Given the description of an element on the screen output the (x, y) to click on. 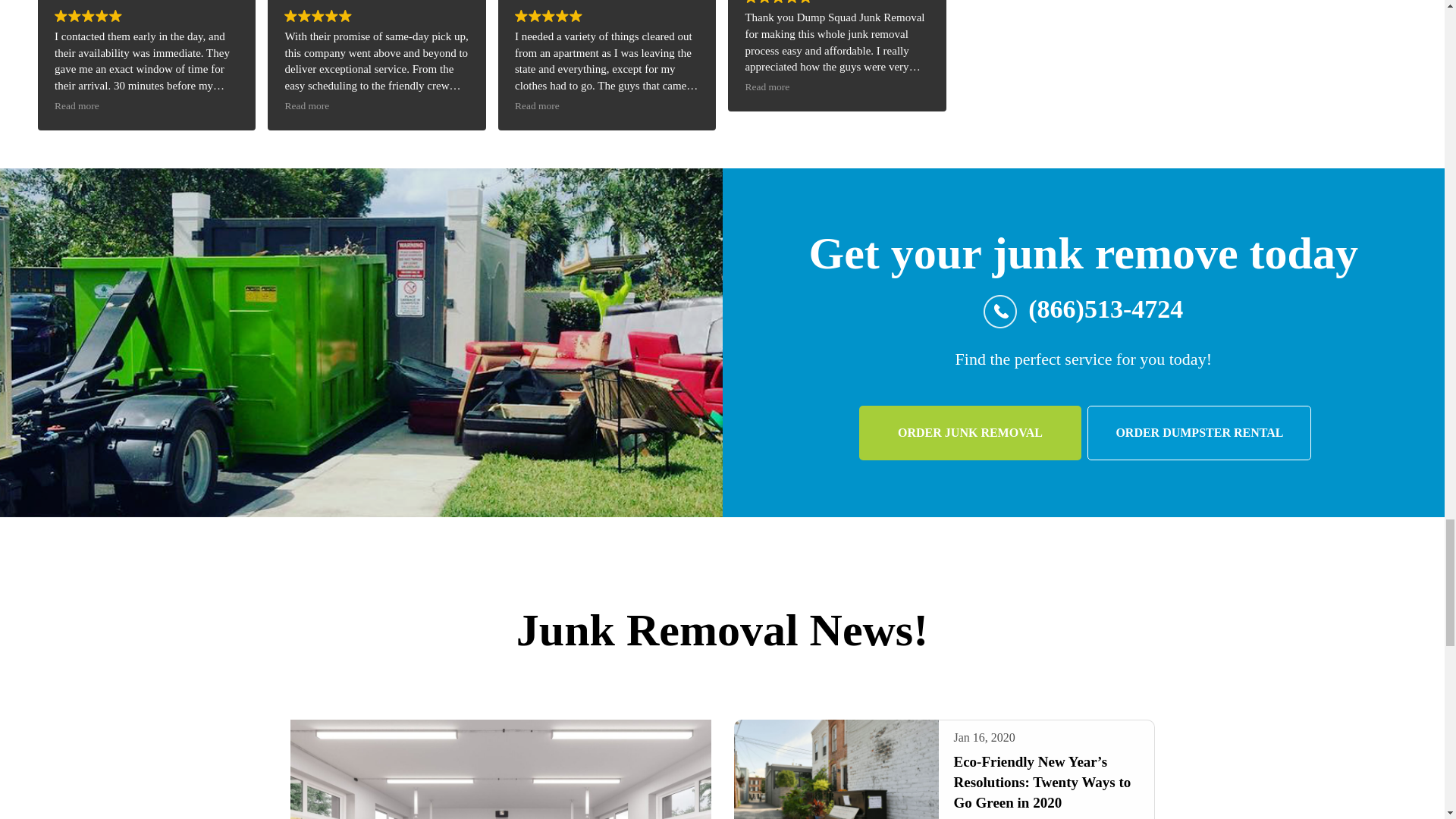
ORDER JUNK REMOVAL (970, 432)
ORDER DUMPSTER RENTAL (1199, 432)
